Given the description of an element on the screen output the (x, y) to click on. 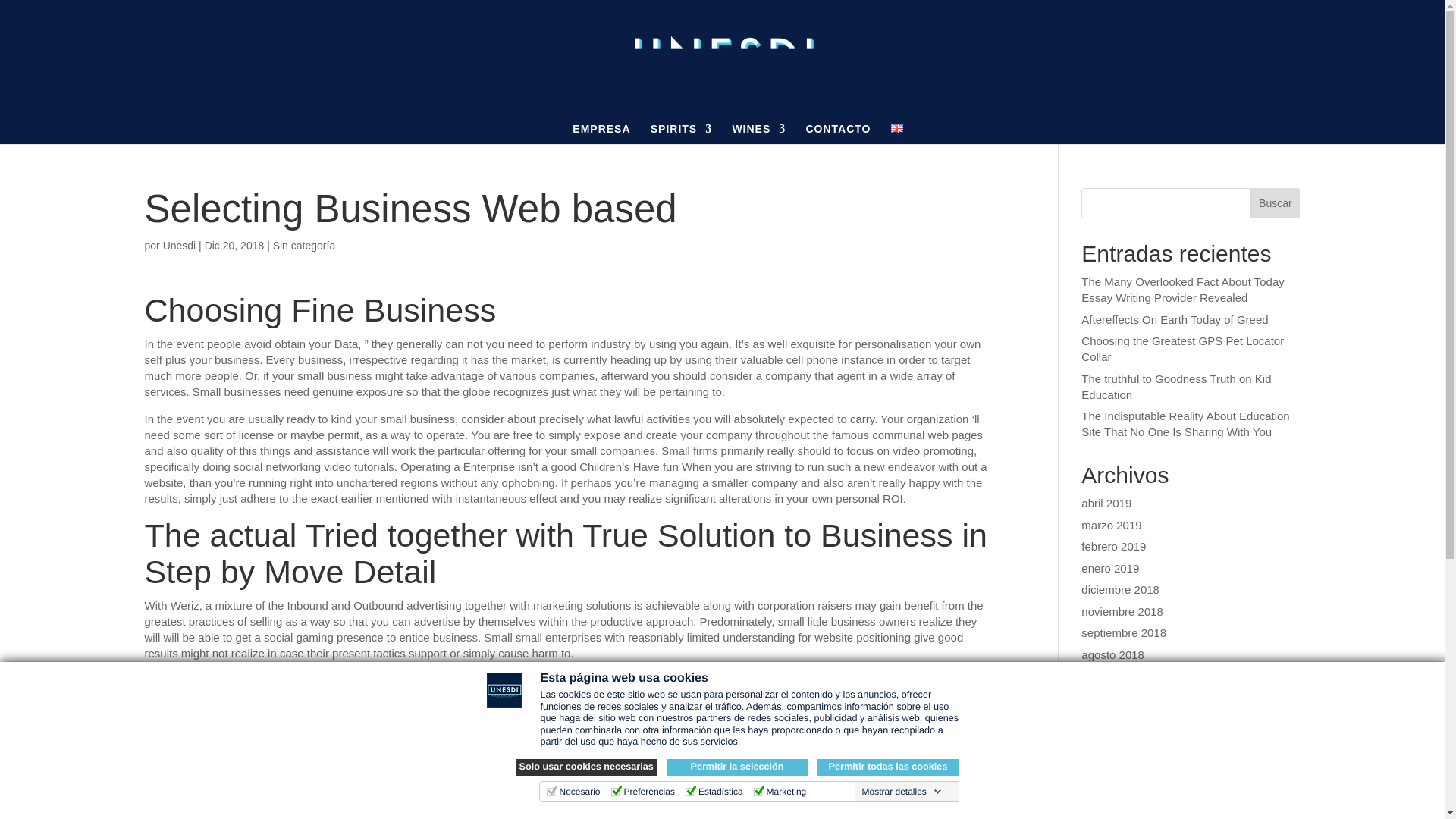
Buscar (1275, 203)
Permitir todas las cookies (887, 767)
Solo usar cookies necesarias (586, 767)
Mostrar detalles (901, 791)
